Given the description of an element on the screen output the (x, y) to click on. 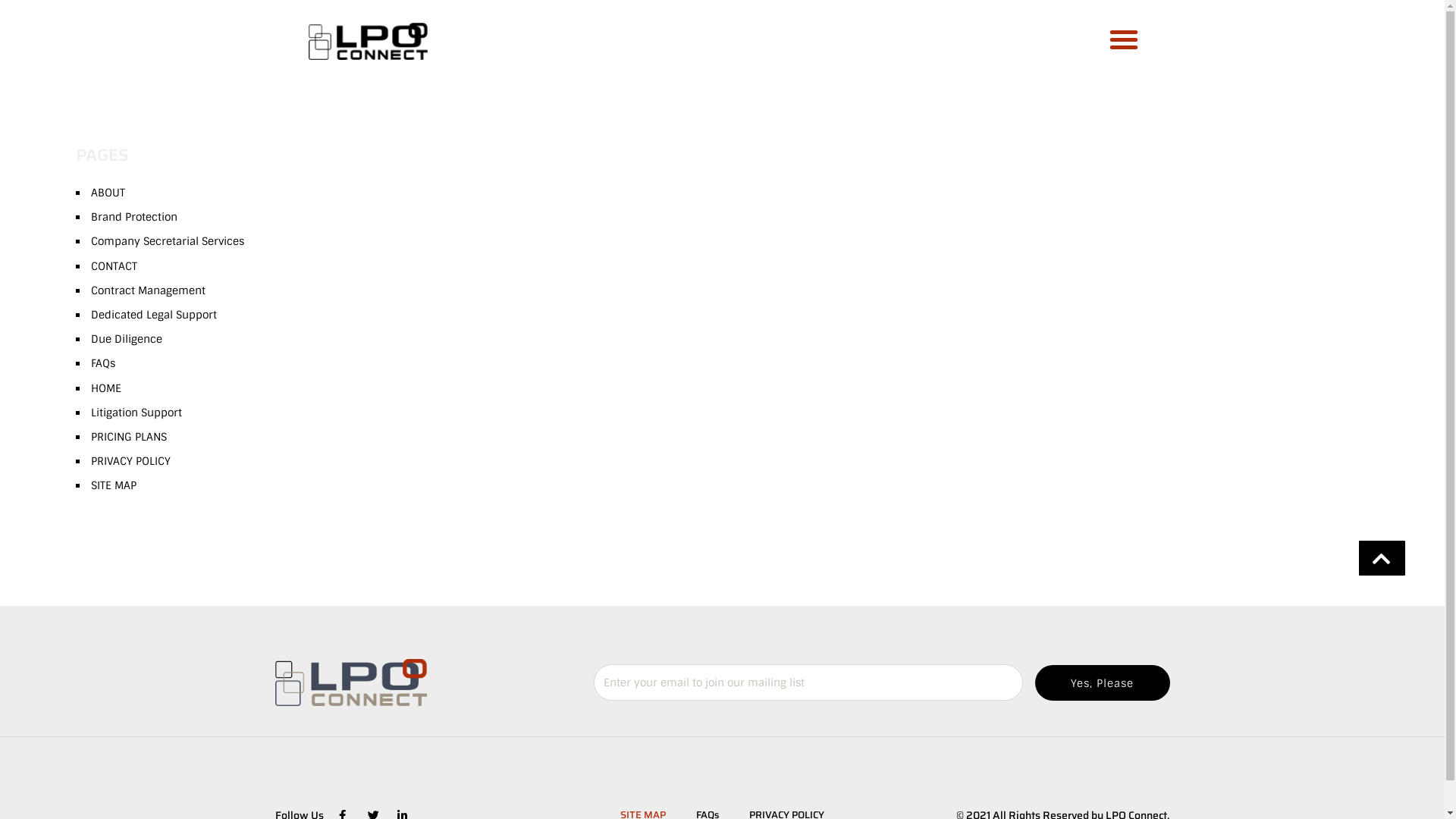
Contract Management Element type: text (148, 290)
Due Diligence Element type: text (126, 338)
Yes, Please Element type: text (1101, 682)
HOME Element type: text (106, 387)
PRICING PLANS Element type: text (128, 436)
FAQs Element type: text (103, 363)
Litigation Support Element type: text (136, 412)
PRIVACY POLICY Element type: text (130, 460)
ABOUT Element type: text (108, 192)
Brand Protection Element type: text (134, 216)
Company Secretarial Services Element type: text (167, 240)
SITE MAP Element type: text (113, 485)
Dedicated Legal Support Element type: text (153, 314)
CONTACT Element type: text (114, 266)
